Given the description of an element on the screen output the (x, y) to click on. 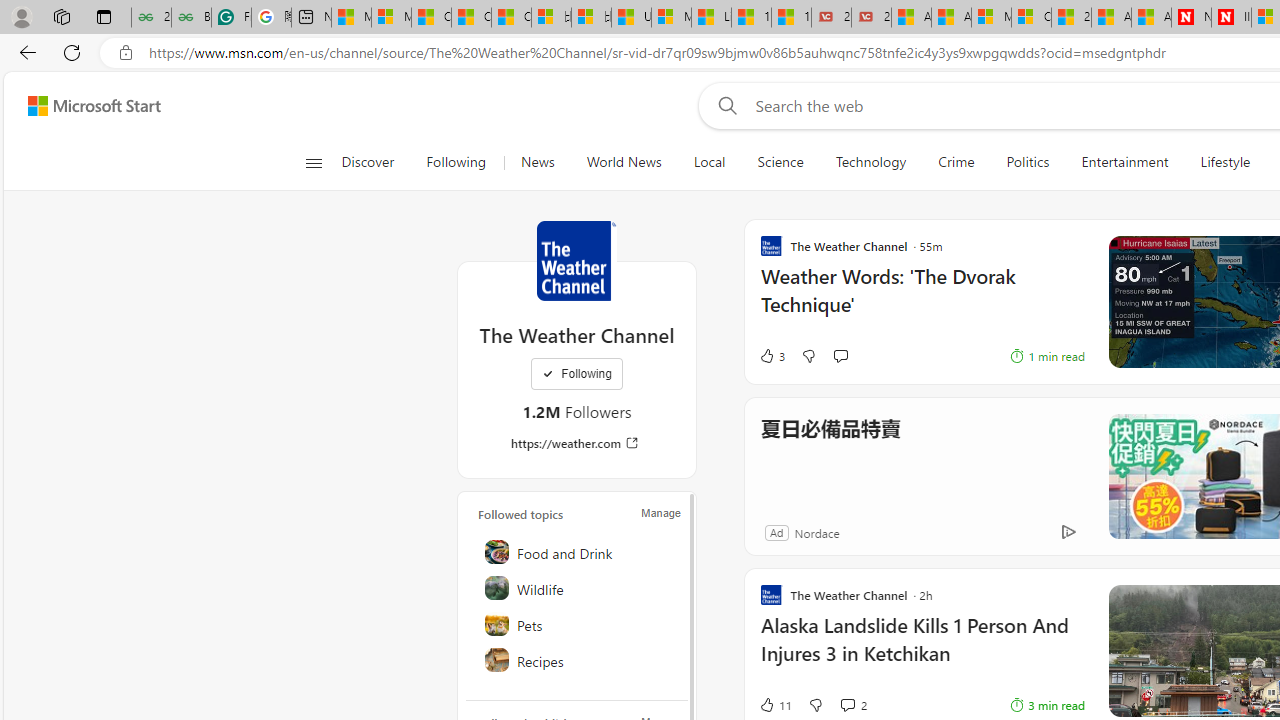
15 Ways Modern Life Contradicts the Teachings of Jesus (791, 17)
Weather Words: 'The Dvorak Technique' (922, 300)
